Given the description of an element on the screen output the (x, y) to click on. 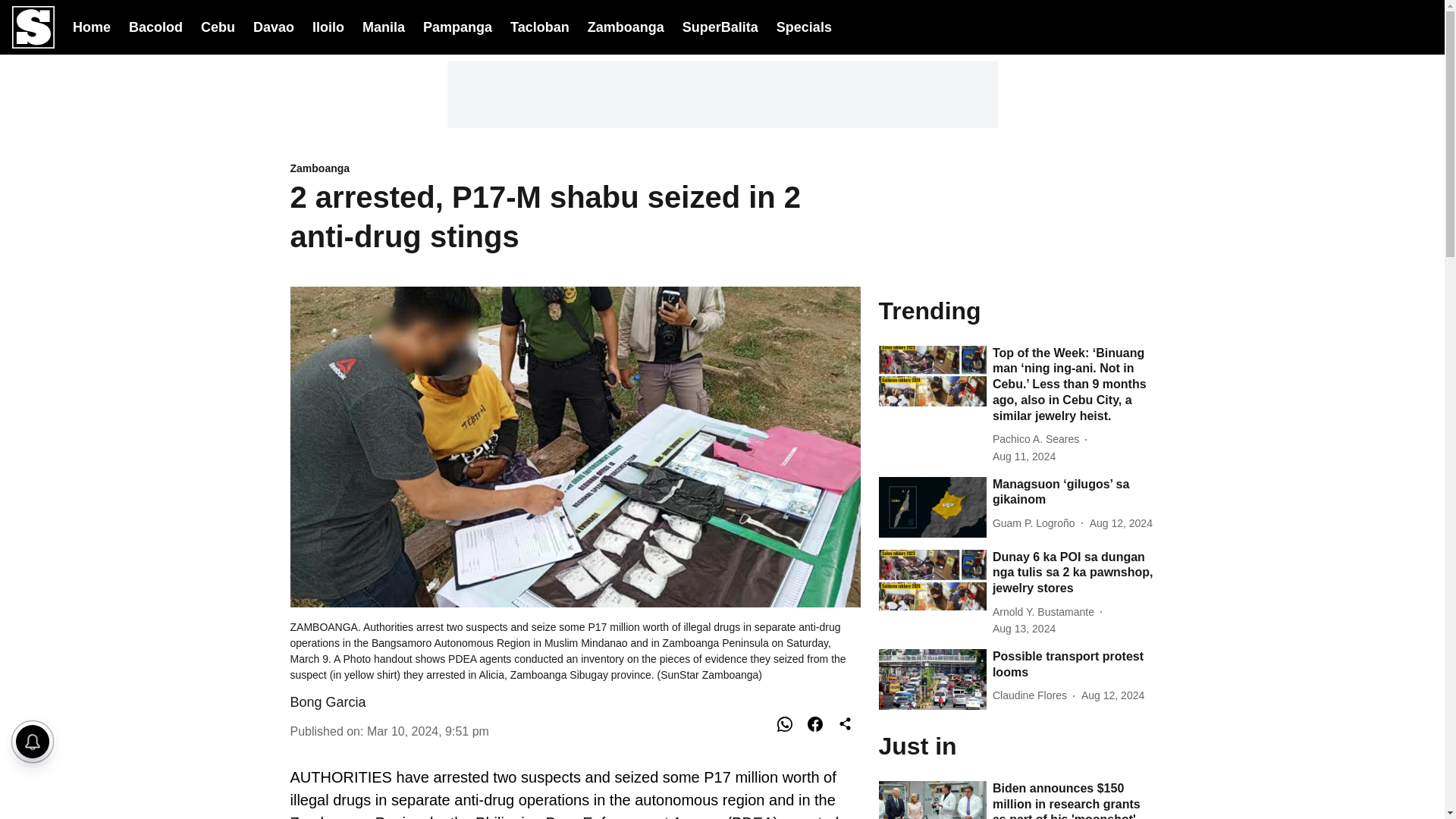
Bacolod (156, 26)
Iloilo (328, 26)
Possible transport protest looms (1073, 664)
Zamboanga (574, 169)
2024-03-10 13:51 (427, 730)
2024-08-13 02:45 (1023, 628)
SuperBalita (720, 27)
Trending (1015, 309)
Cebu (217, 26)
Dark Mode (1382, 27)
